Given the description of an element on the screen output the (x, y) to click on. 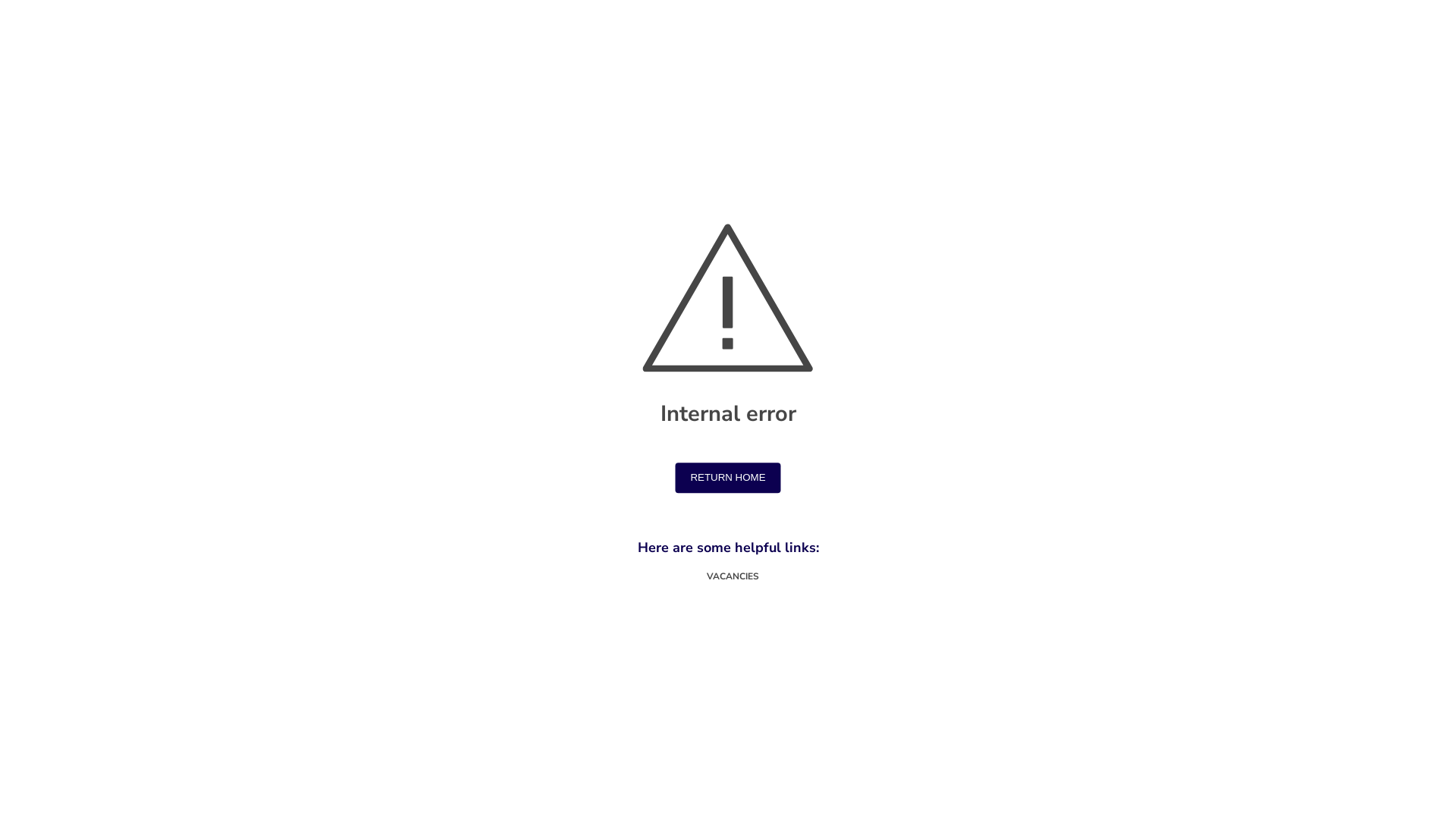
RETURN HOME Element type: text (727, 478)
VACANCIES Element type: text (728, 577)
RETURN HOME Element type: text (727, 477)
